Given the description of an element on the screen output the (x, y) to click on. 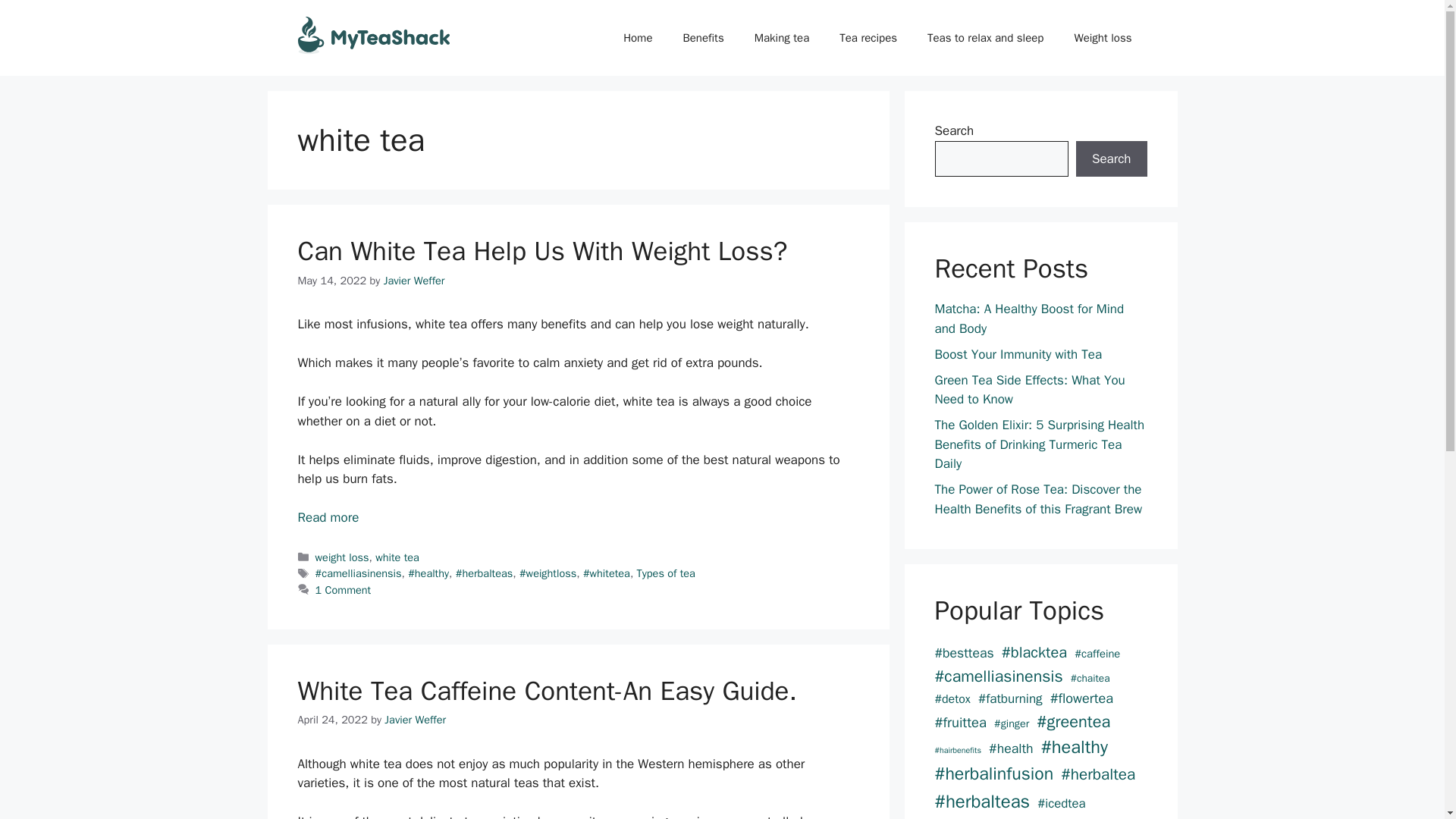
Home (637, 37)
weight loss (342, 557)
Can White Tea Help Us With Weight Loss? (327, 517)
View all posts by Javier Weffer (414, 280)
Benefits (702, 37)
white tea (397, 557)
Teas to relax and sleep (985, 37)
Search (1111, 158)
Tea recipes (868, 37)
View all posts by Javier Weffer (414, 719)
Read more (327, 517)
1 Comment (343, 590)
Matcha: A Healthy Boost for Mind and Body (1029, 318)
Making tea (782, 37)
